Given the description of an element on the screen output the (x, y) to click on. 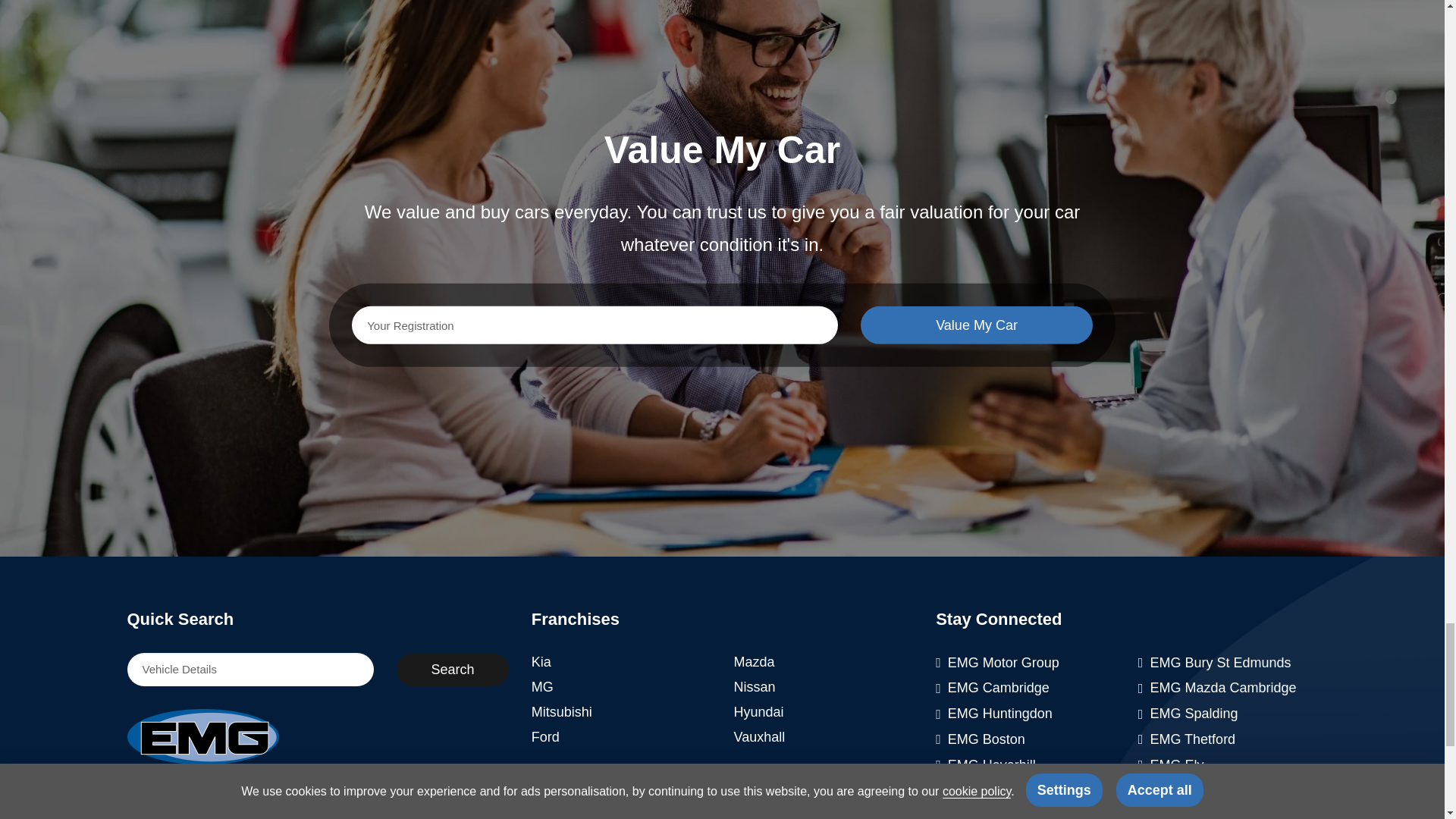
67 Degrees (350, 815)
